Given the description of an element on the screen output the (x, y) to click on. 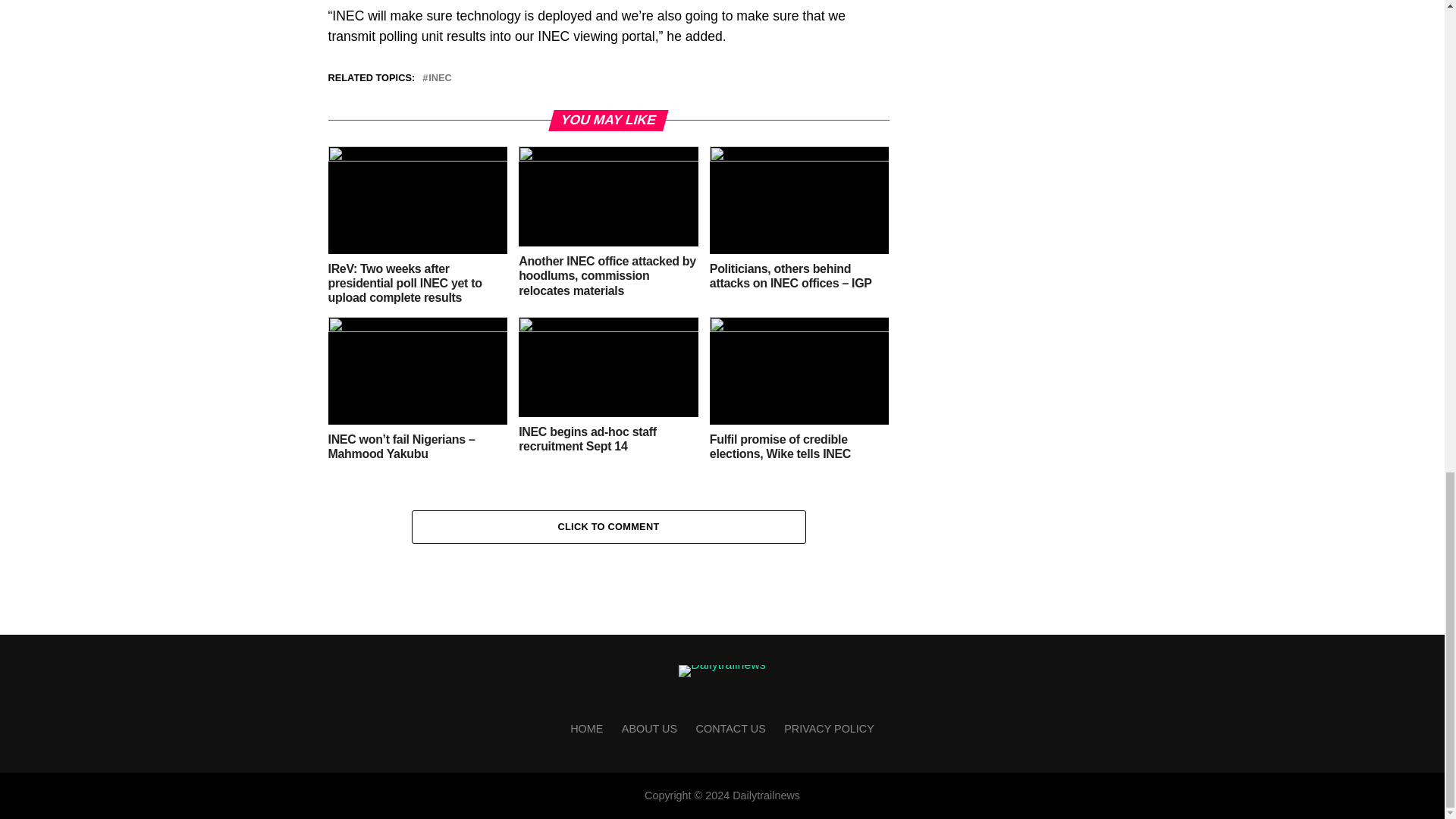
INEC (439, 78)
